Given the description of an element on the screen output the (x, y) to click on. 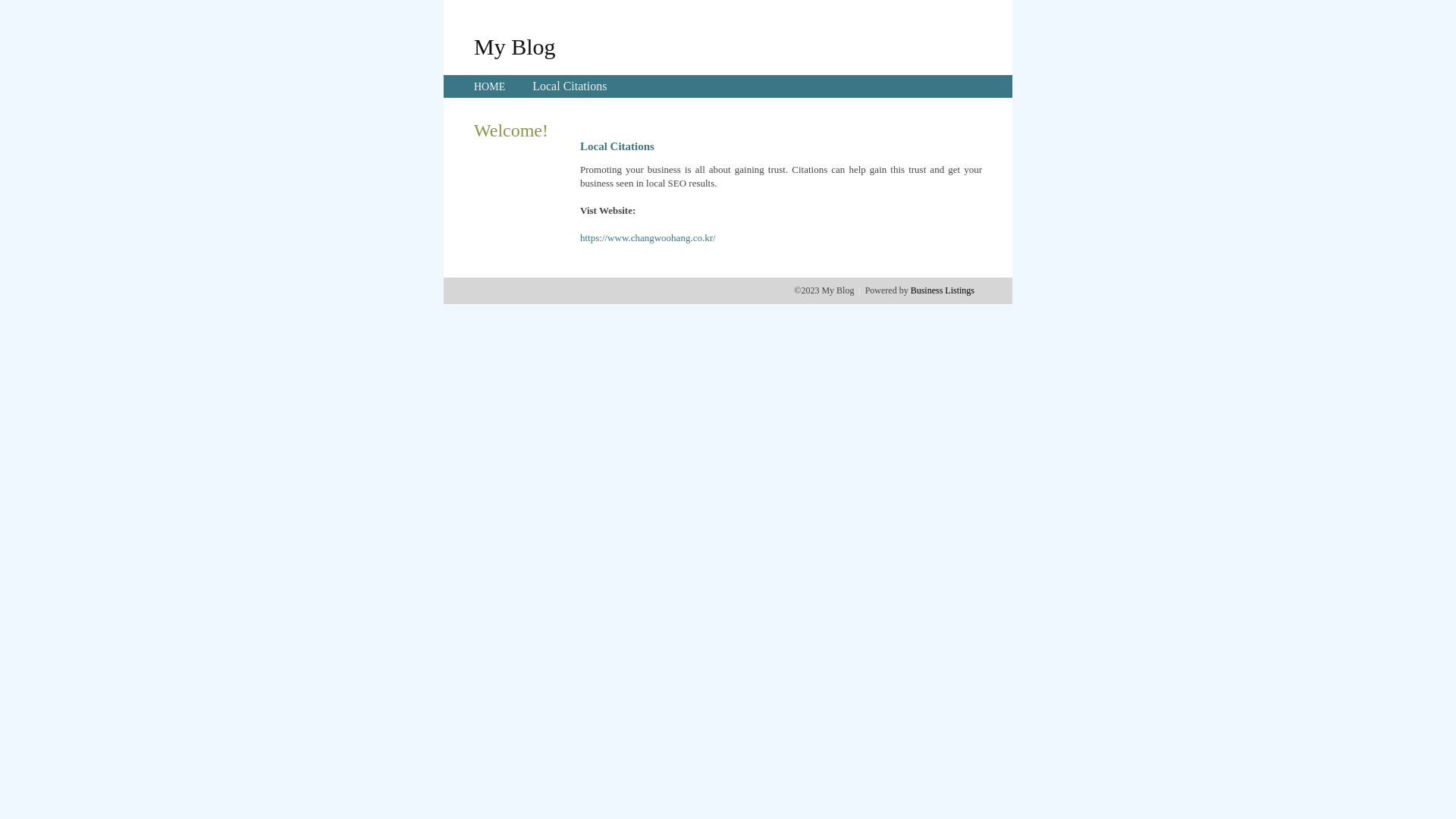
Local Citations Element type: text (569, 85)
HOME Element type: text (489, 86)
Business Listings Element type: text (942, 290)
My Blog Element type: text (514, 46)
https://www.changwoohang.co.kr/ Element type: text (647, 237)
